Given the description of an element on the screen output the (x, y) to click on. 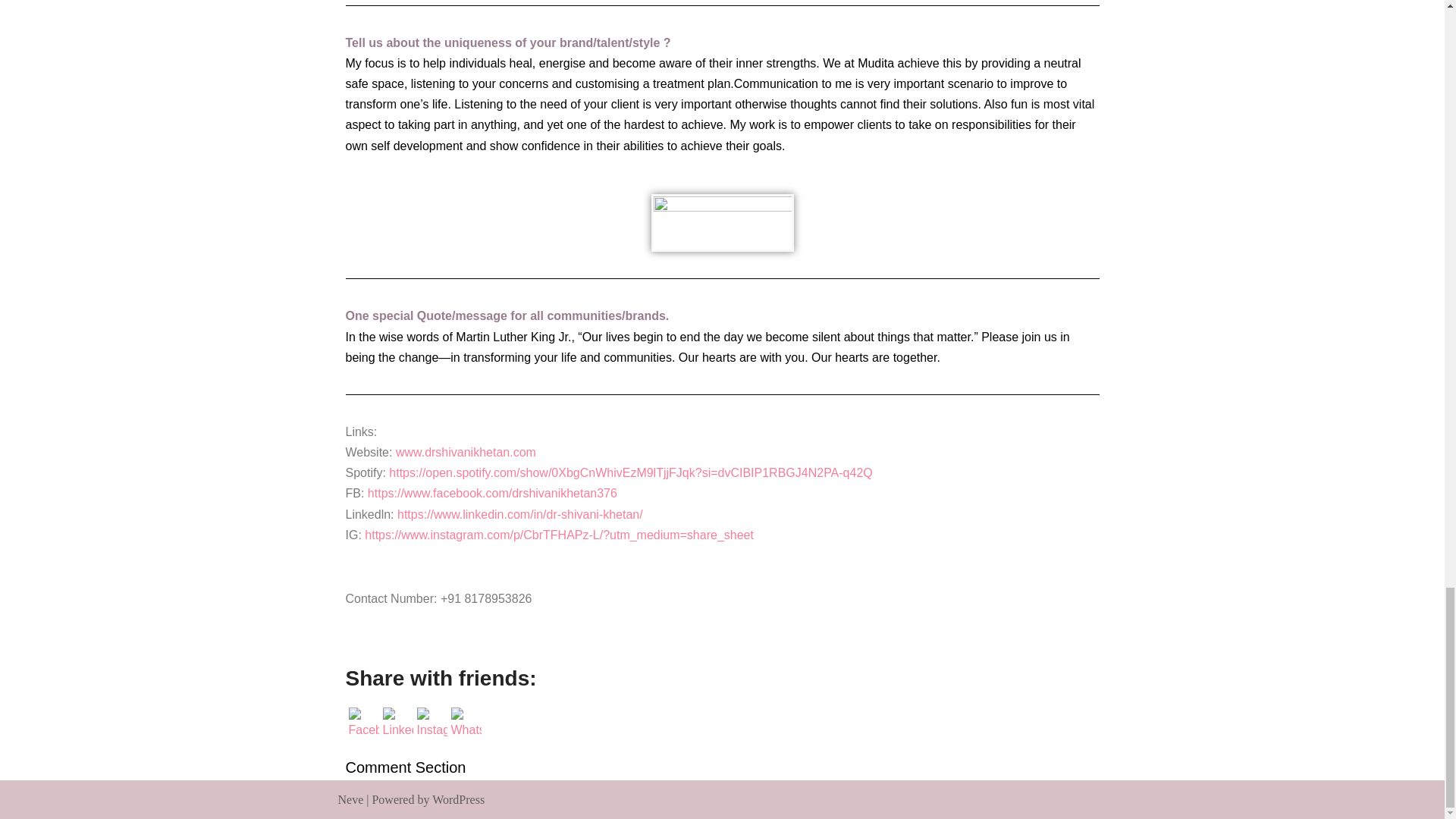
Instagram (431, 723)
LinkedIn (396, 723)
Facebook (363, 723)
WordPress (458, 799)
www.drshivanikhetan.com (465, 451)
WhatsApp (464, 723)
Neve (350, 799)
